Given the description of an element on the screen output the (x, y) to click on. 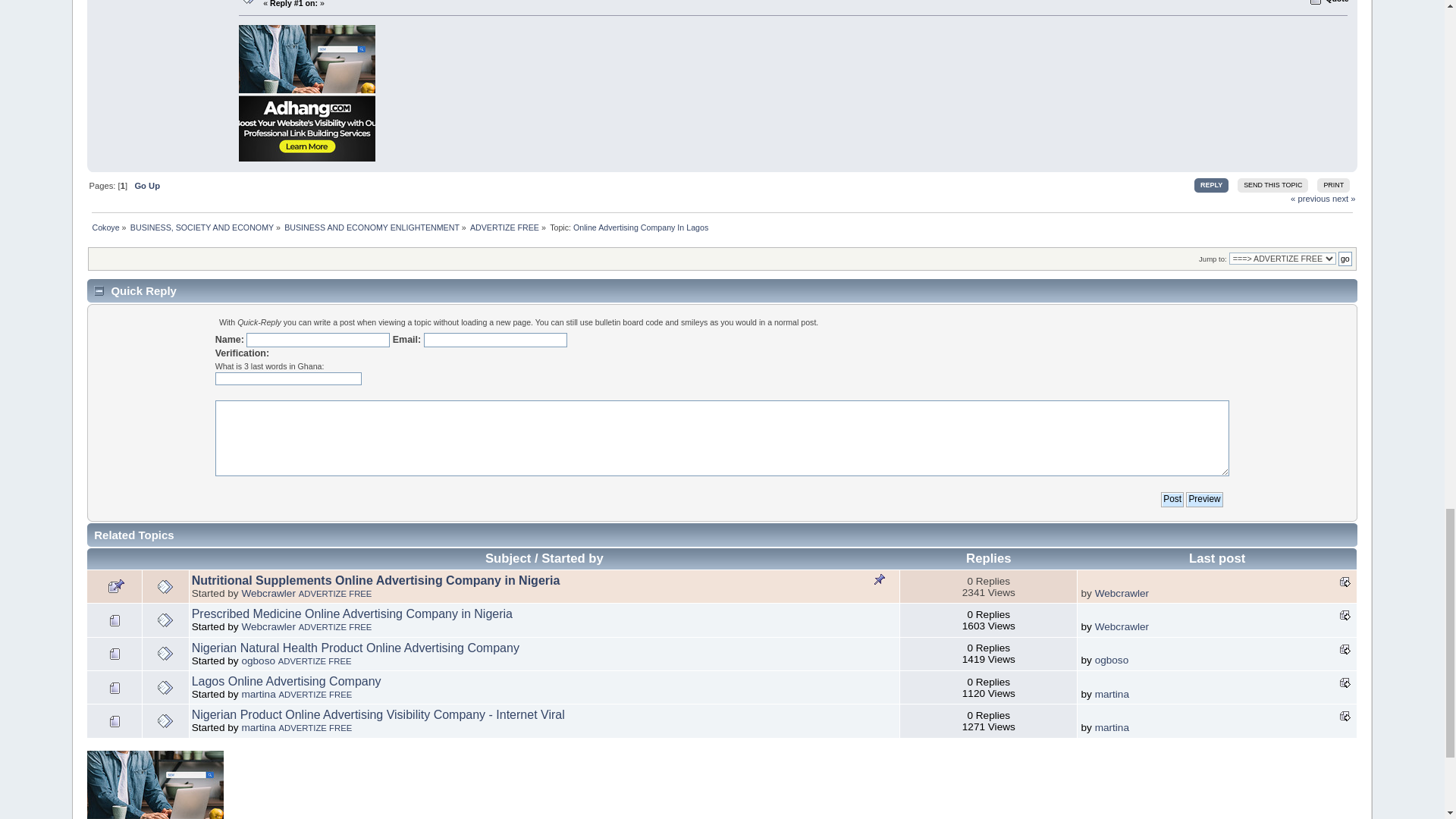
Preview (1204, 499)
View the profile of martina (258, 727)
Last post (1345, 648)
Last post (1345, 581)
go (1345, 258)
View the profile of ogboso (258, 660)
Last post (1345, 682)
View the profile of martina (258, 694)
Last post (1345, 715)
Post (1171, 499)
View the profile of Webcrawler (268, 626)
View the profile of Webcrawler (268, 593)
Last post (1345, 614)
